Given the description of an element on the screen output the (x, y) to click on. 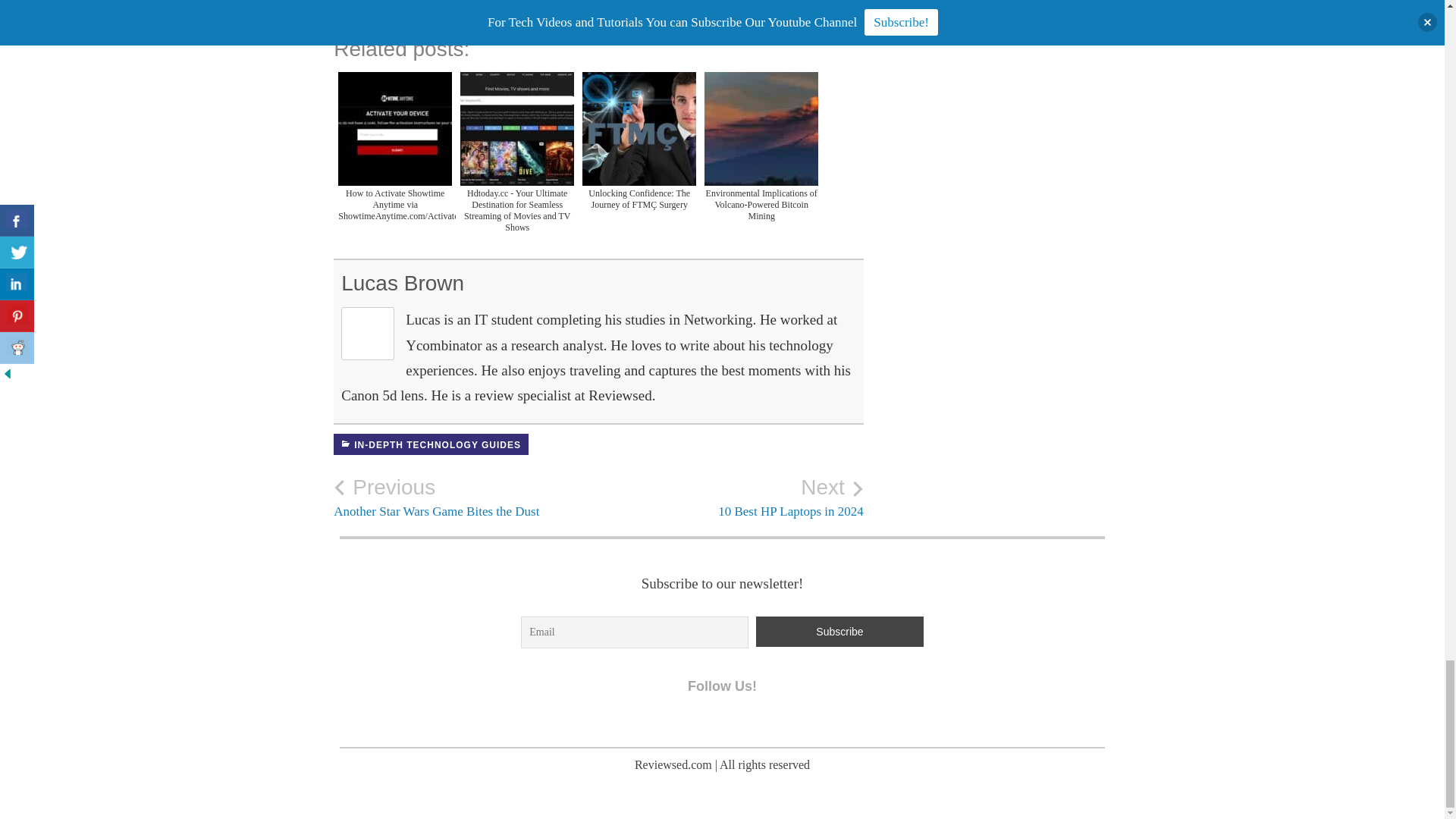
Follow Us on Facebook (654, 725)
IN-DEPTH TECHNOLOGY GUIDES (430, 444)
Follow Us on LinkedIn (718, 725)
Subscribe (839, 631)
Follow Us on Instagram (465, 497)
Follow Us on Twitter (730, 497)
Follow Us on YouTube (750, 725)
All posts by Lucas Brown (686, 725)
